Given the description of an element on the screen output the (x, y) to click on. 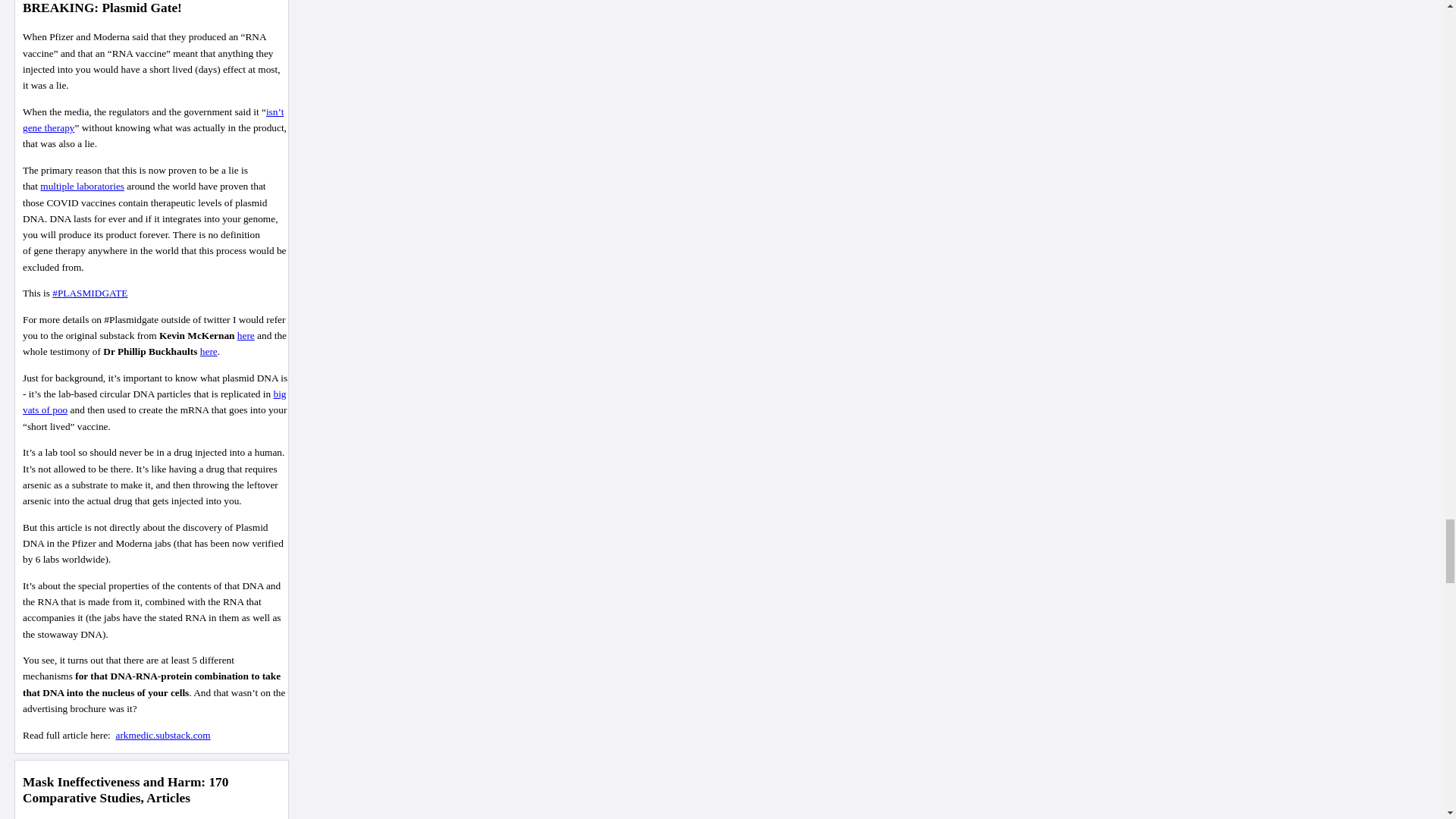
here (208, 351)
here (245, 335)
multiple laboratories (81, 185)
arkmedic.substack.com (162, 735)
big vats of poo (154, 401)
